Given the description of an element on the screen output the (x, y) to click on. 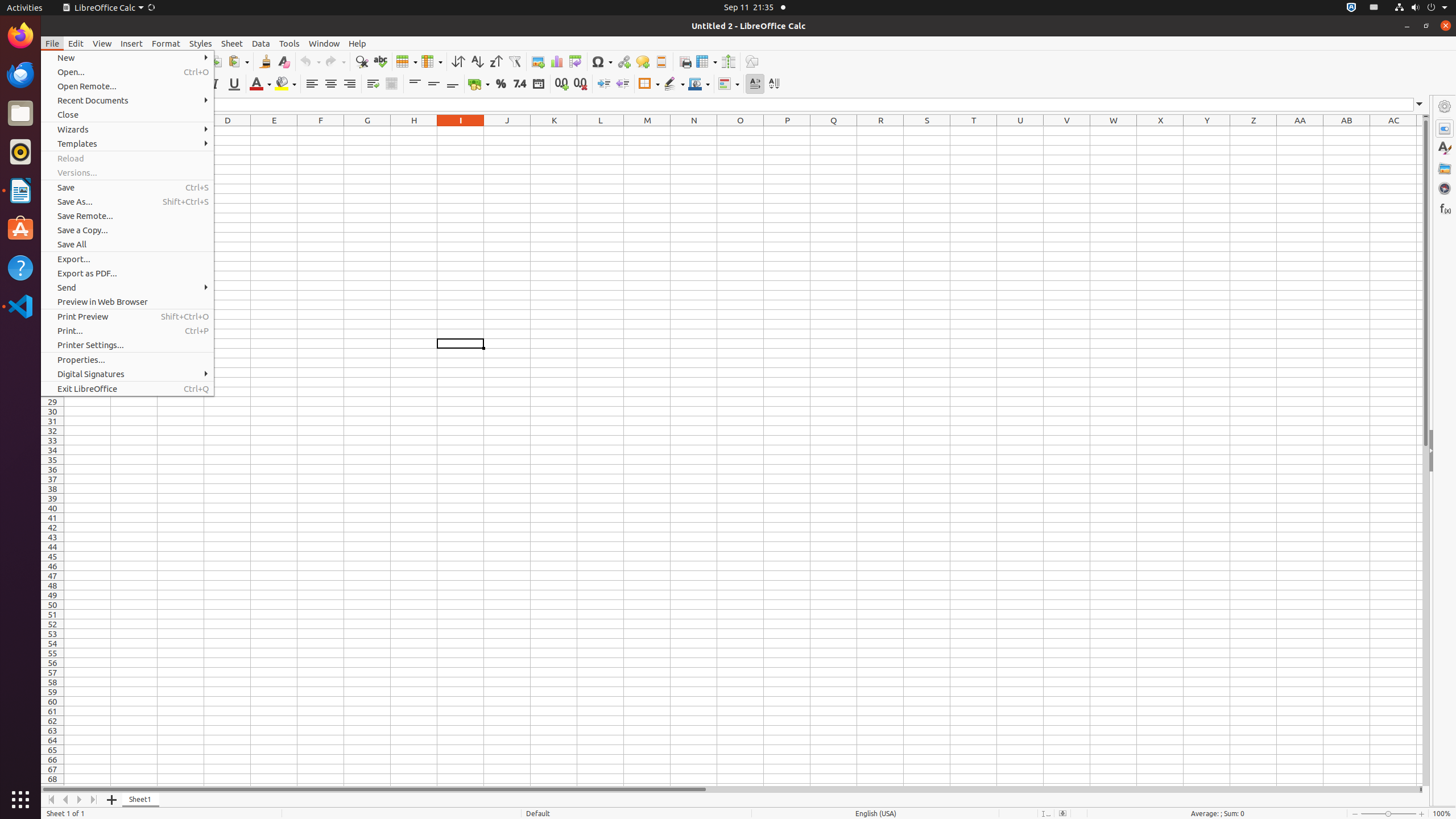
Symbol Element type: push-button (601, 61)
Save All Element type: menu-item (126, 244)
Export as PDF... Element type: menu-item (126, 273)
Find & Replace Element type: toggle-button (361, 61)
Align Bottom Element type: push-button (452, 83)
